Given the description of an element on the screen output the (x, y) to click on. 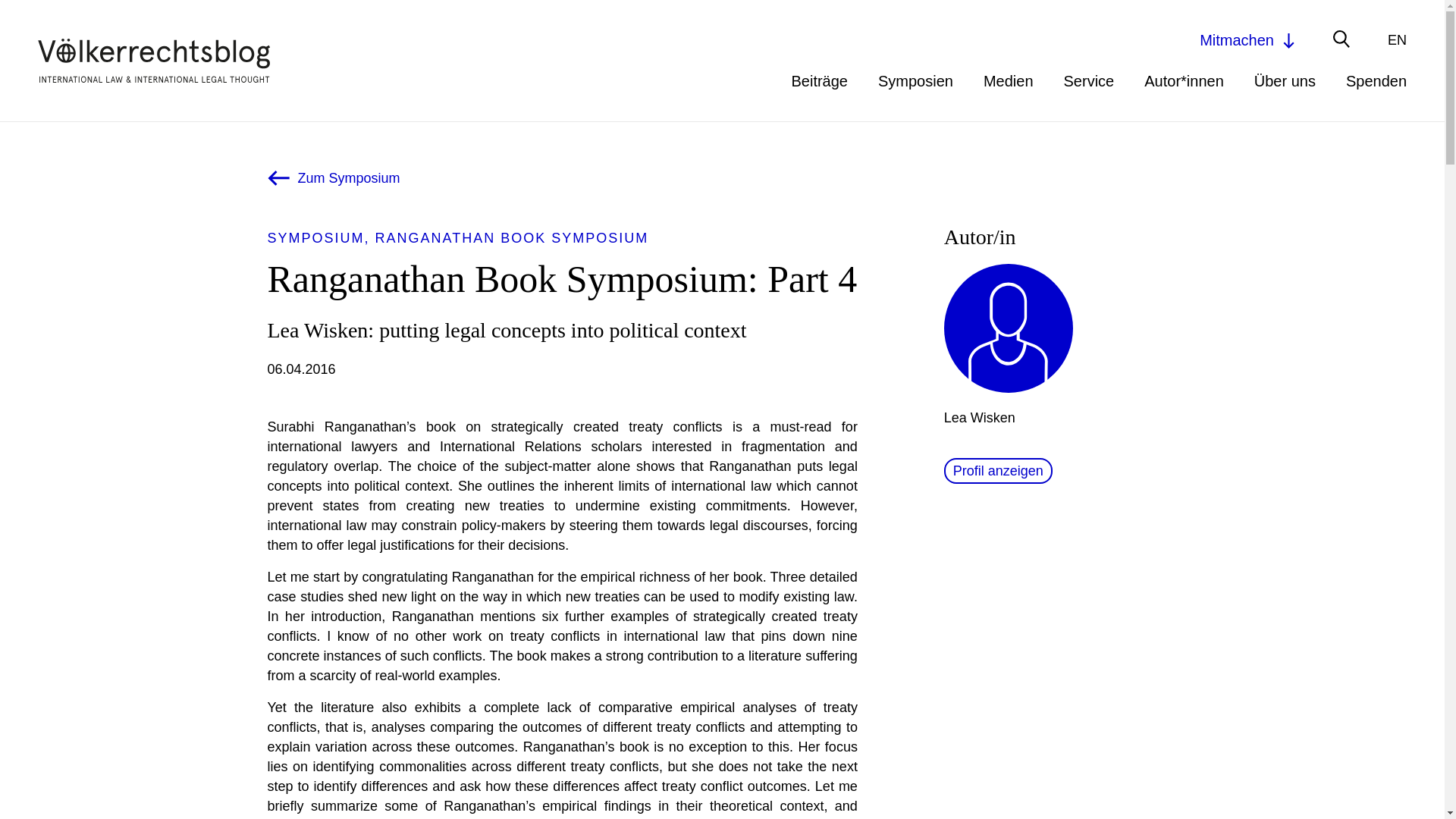
Symposien (915, 80)
Service (1089, 80)
Spenden (1375, 80)
Medien (1008, 80)
EN (1396, 39)
search (1027, 42)
Mitmachen (1248, 39)
